Given the description of an element on the screen output the (x, y) to click on. 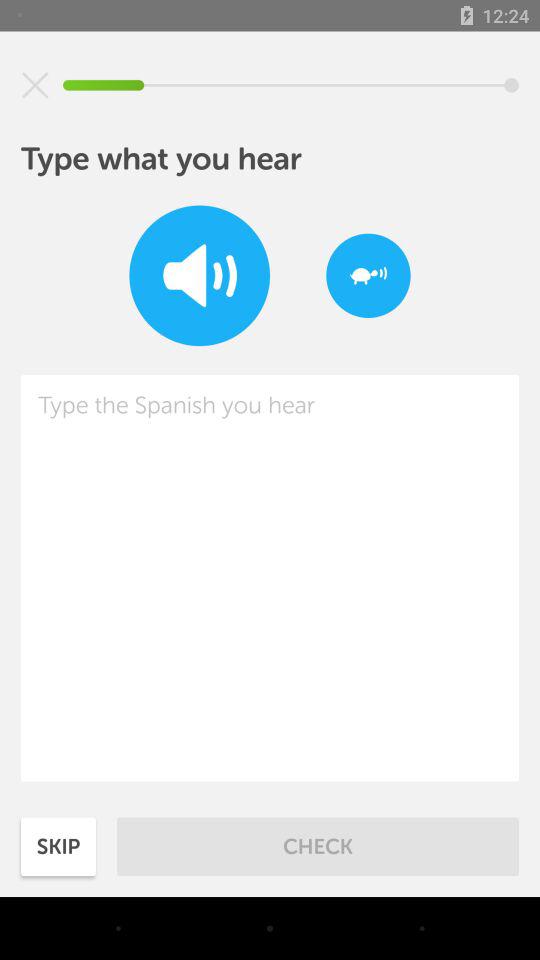
turn on icon at the top left corner (35, 85)
